Given the description of an element on the screen output the (x, y) to click on. 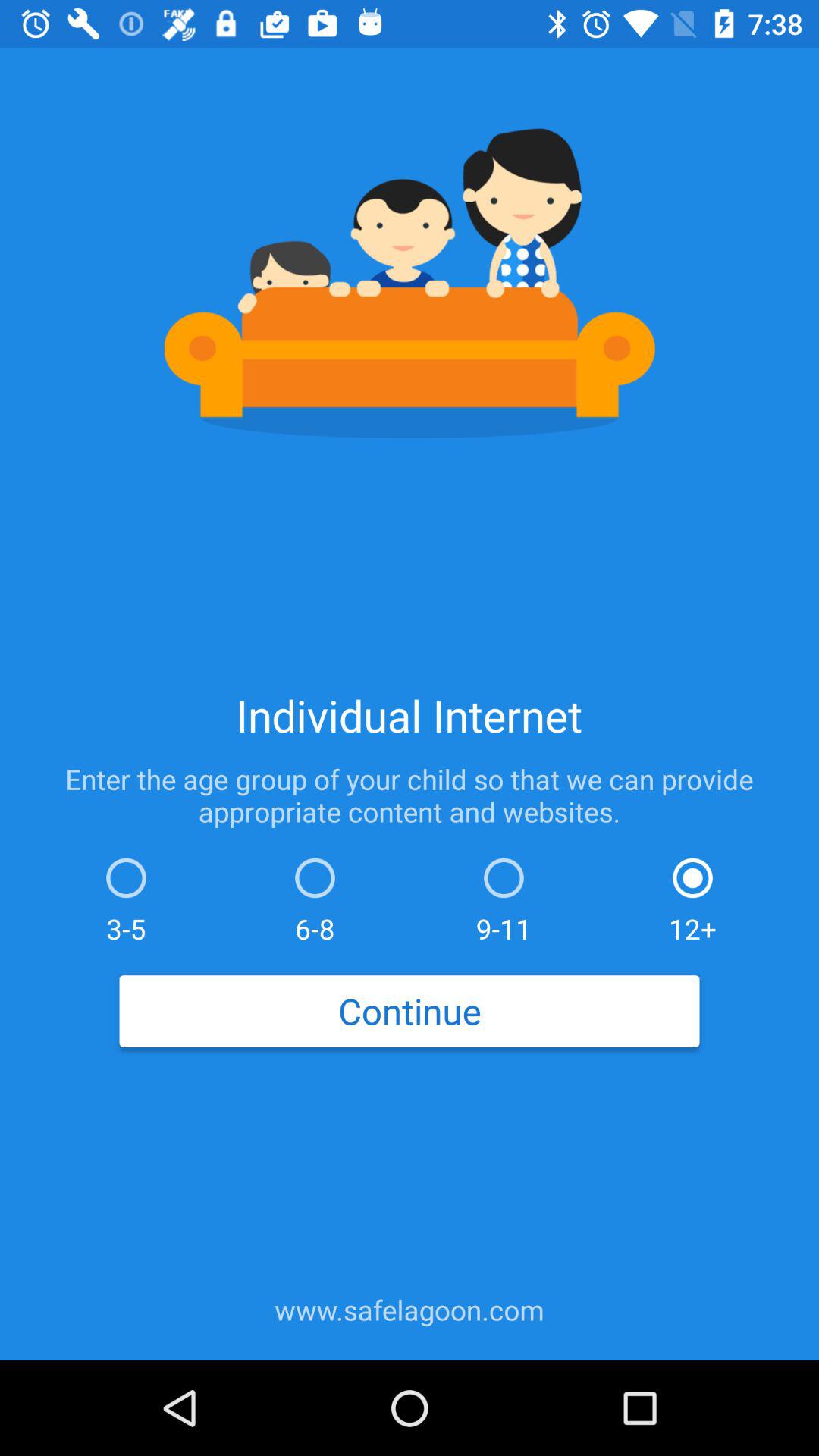
flip until the 12+ item (692, 896)
